Given the description of an element on the screen output the (x, y) to click on. 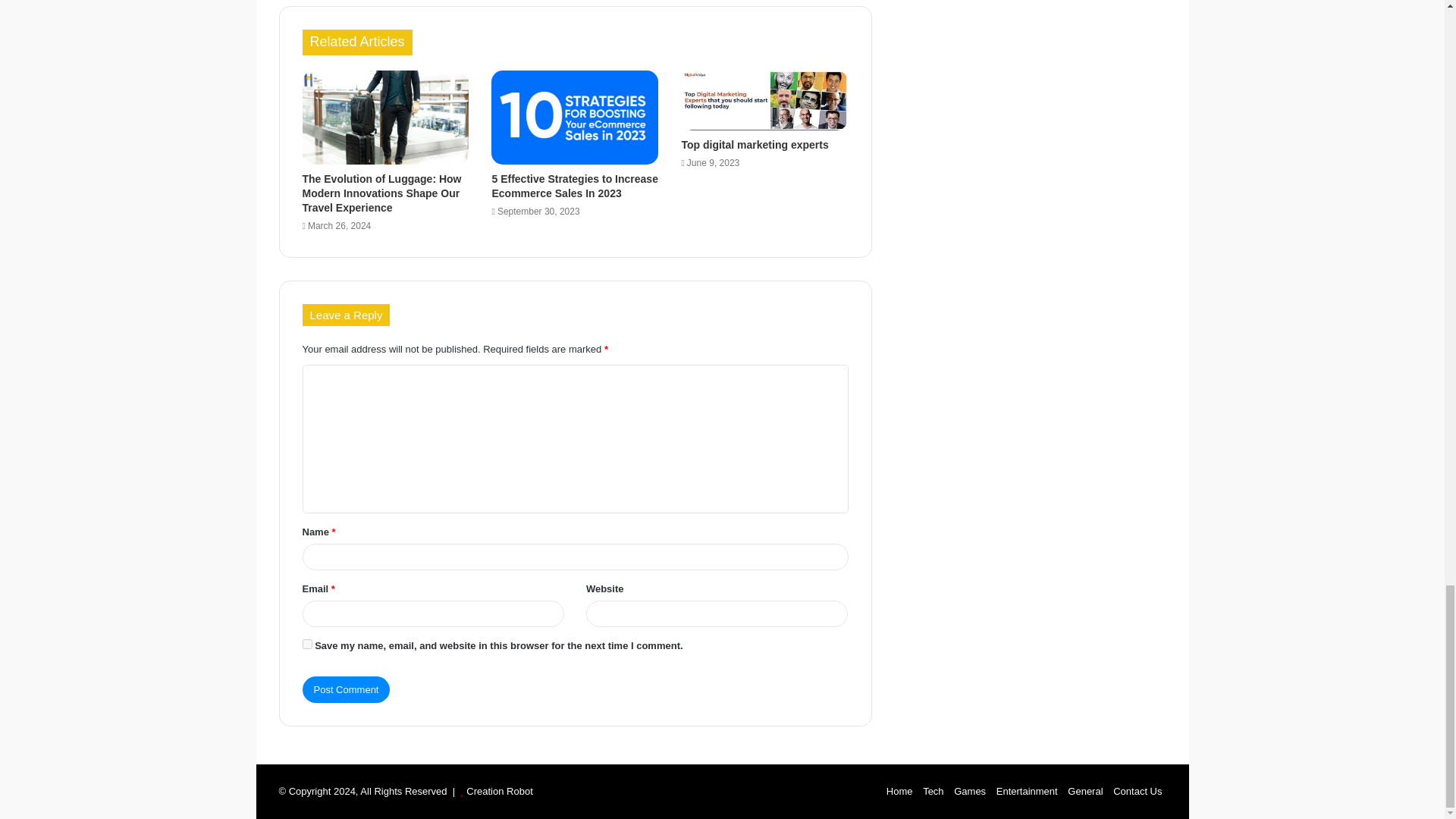
yes (306, 644)
Post Comment (345, 689)
